Given the description of an element on the screen output the (x, y) to click on. 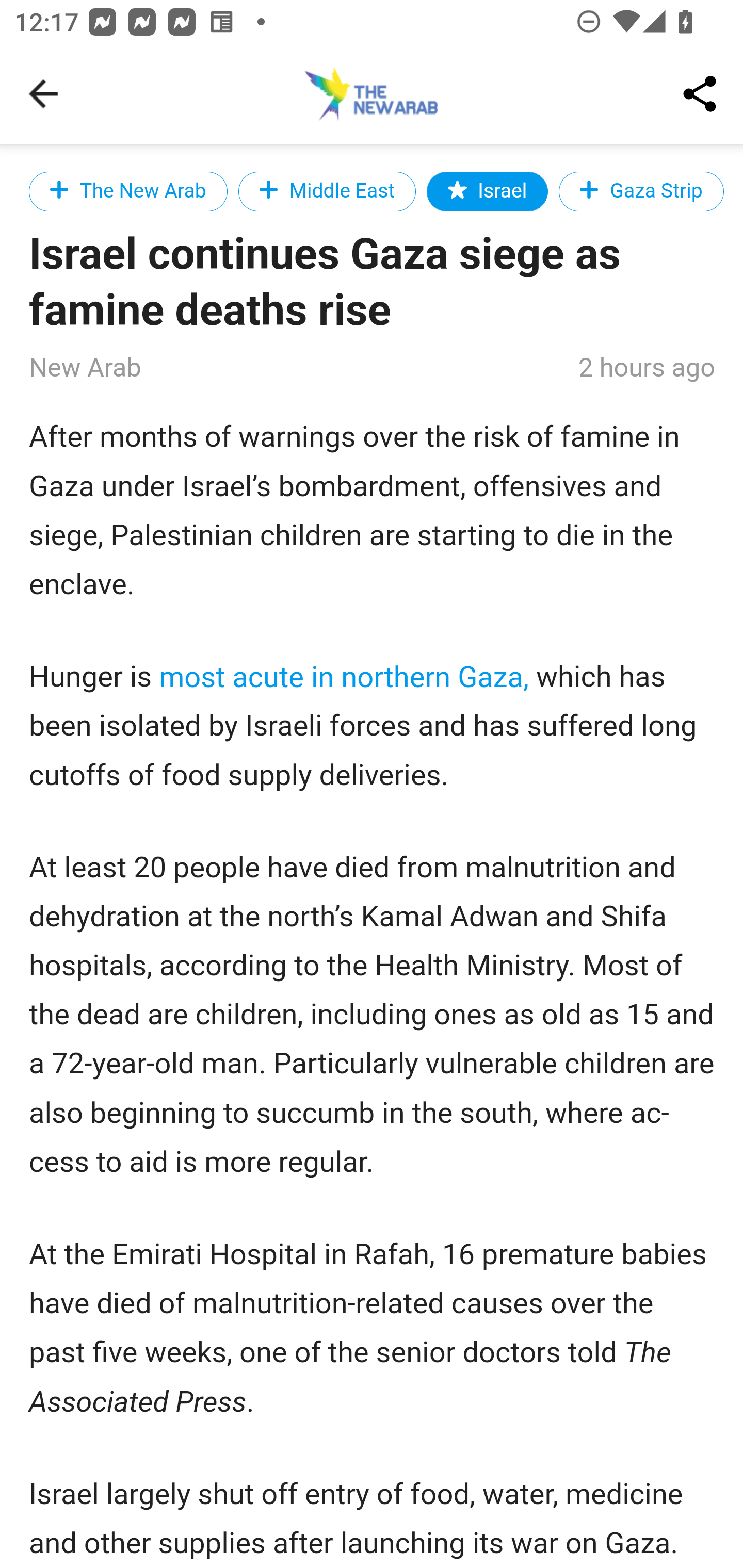
The New Arab (128, 191)
Middle East (326, 191)
Israel (487, 191)
Gaza Strip (640, 191)
most acute in northern Gaza, (345, 676)
